Given the description of an element on the screen output the (x, y) to click on. 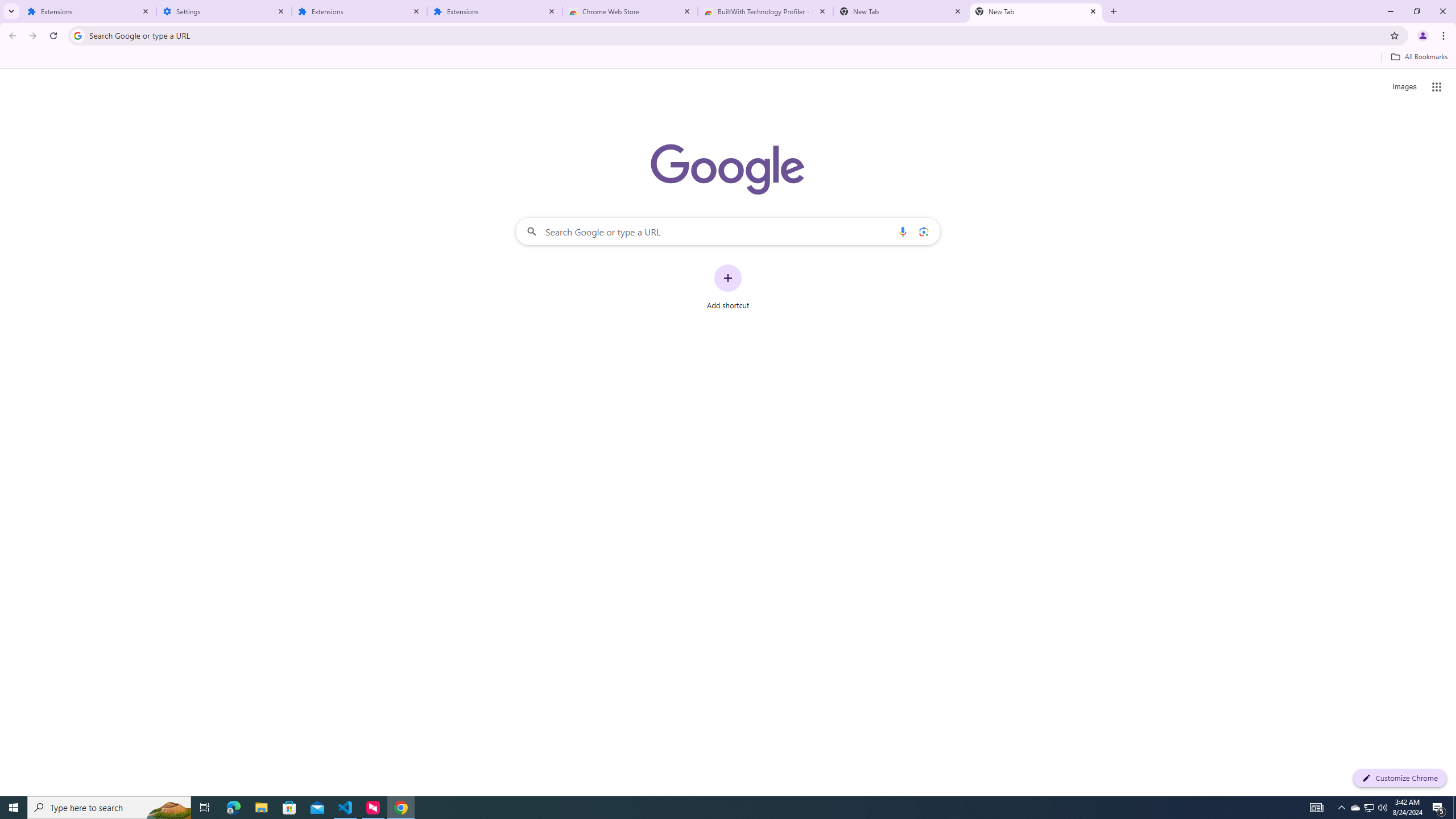
New Tab (1036, 11)
Extensions (359, 11)
Search Google or type a URL (727, 230)
Chrome Web Store (630, 11)
Extensions (494, 11)
Extensions (88, 11)
Add shortcut (727, 287)
